Given the description of an element on the screen output the (x, y) to click on. 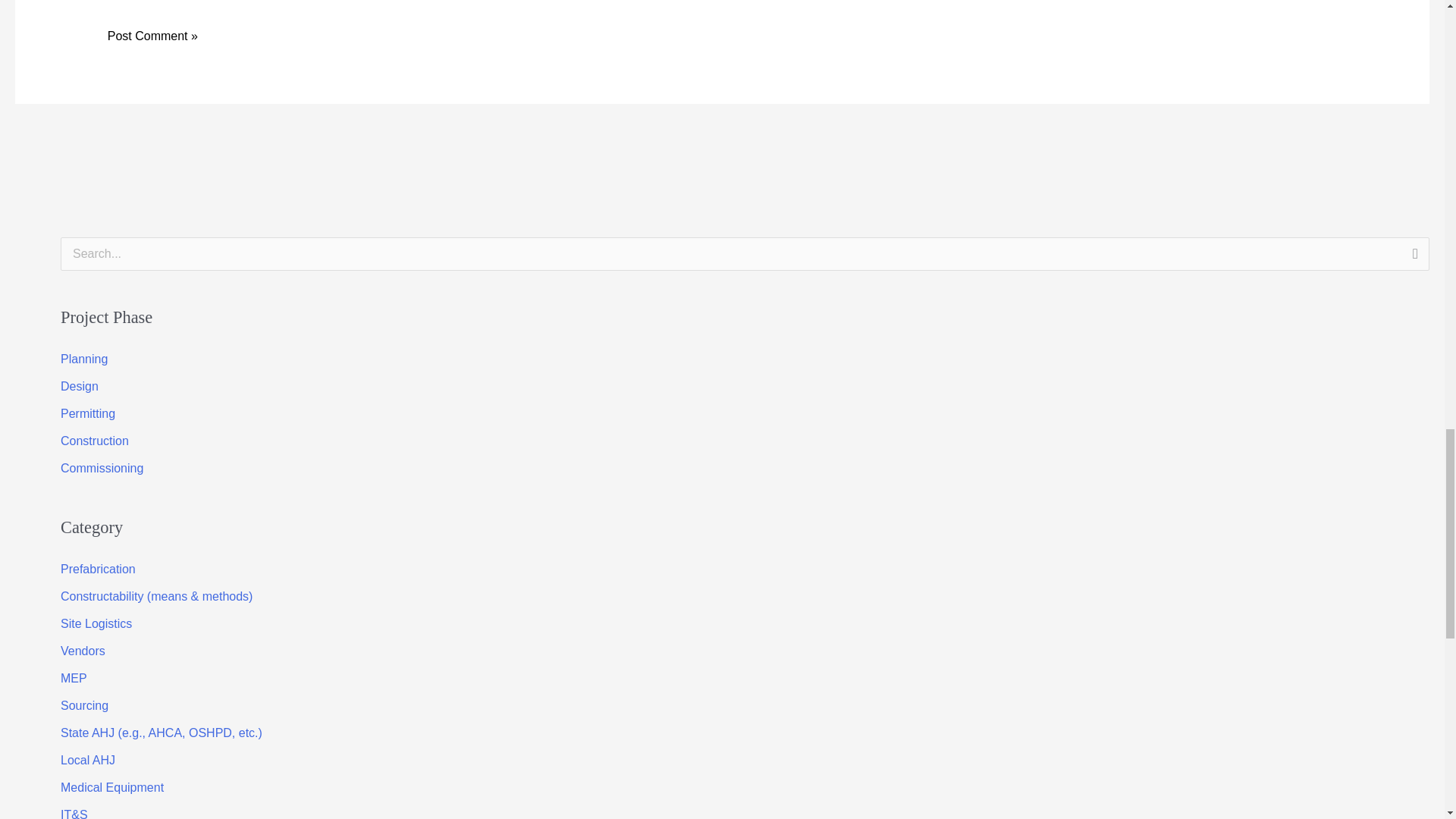
Permitting (88, 413)
Sourcing (84, 705)
Planning (84, 358)
Local AHJ (88, 759)
MEP (74, 677)
Prefabrication (98, 568)
Design (80, 386)
Medical Equipment (112, 787)
Site Logistics (96, 623)
Construction (95, 440)
